Given the description of an element on the screen output the (x, y) to click on. 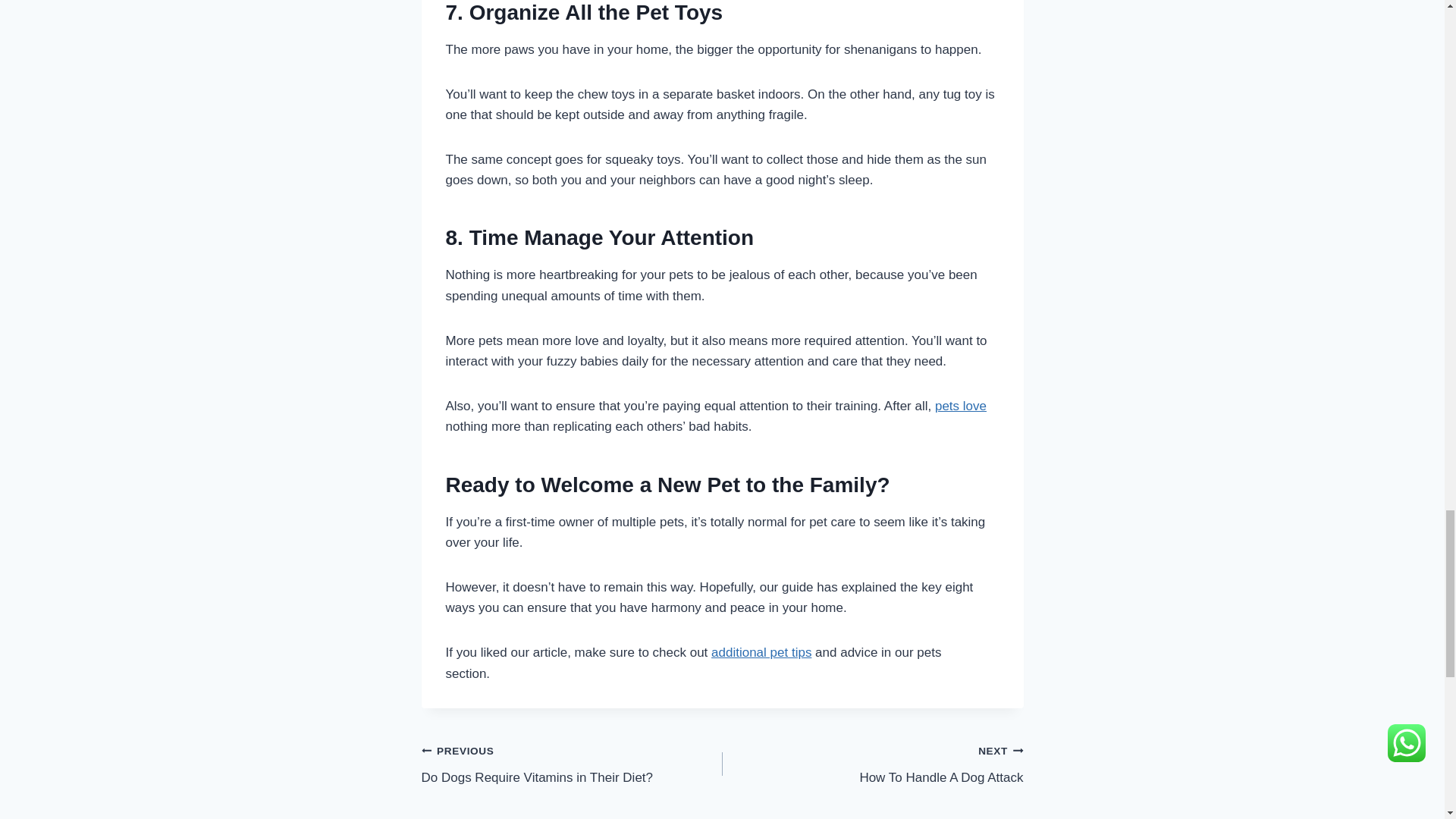
pets love (872, 763)
additional pet tips (960, 405)
